Given the description of an element on the screen output the (x, y) to click on. 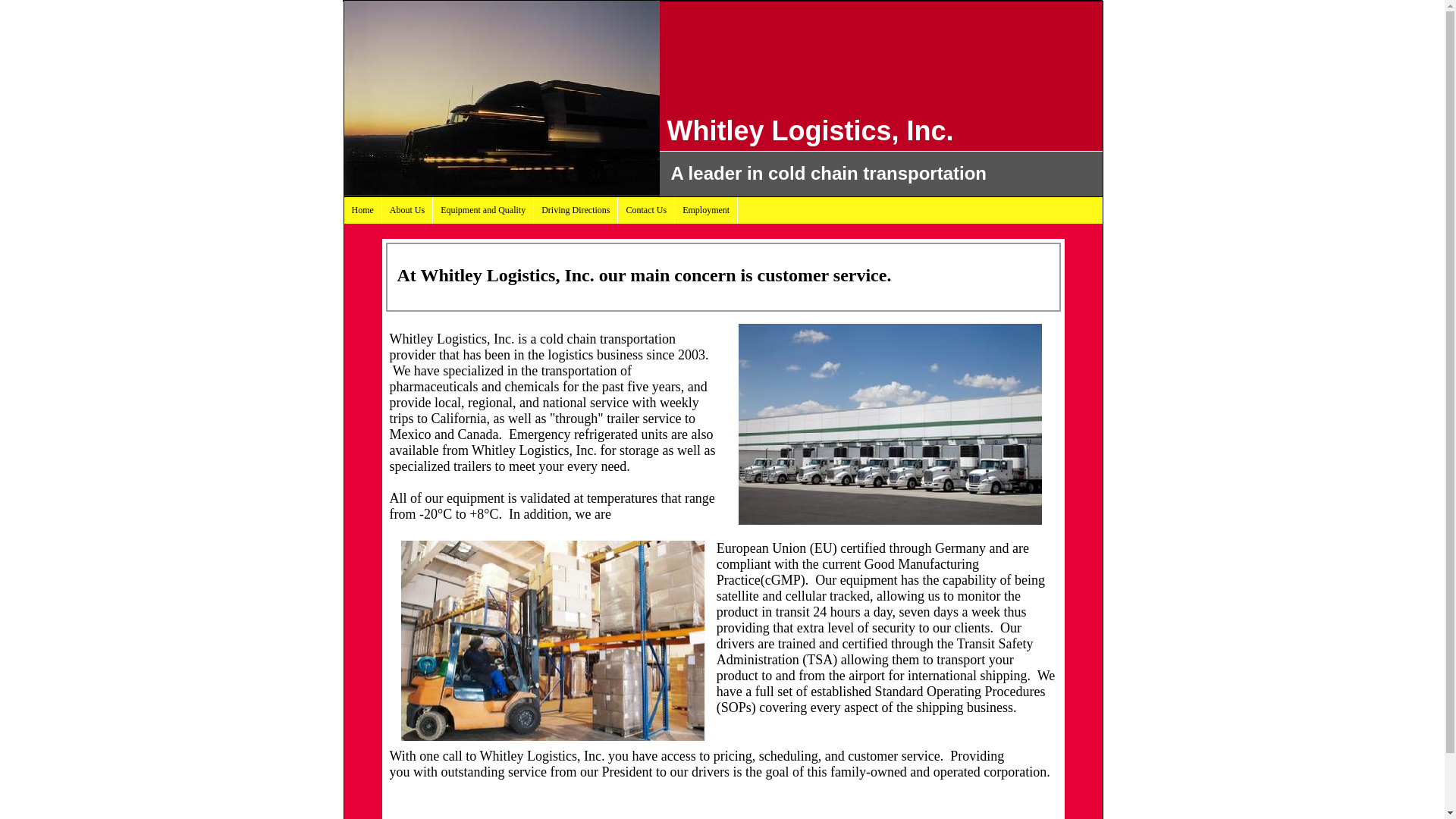
Contact Us (646, 210)
Equipment and Quality (483, 210)
About Us (406, 210)
Home (362, 210)
Driving Directions (575, 210)
Employment (706, 210)
